Given the description of an element on the screen output the (x, y) to click on. 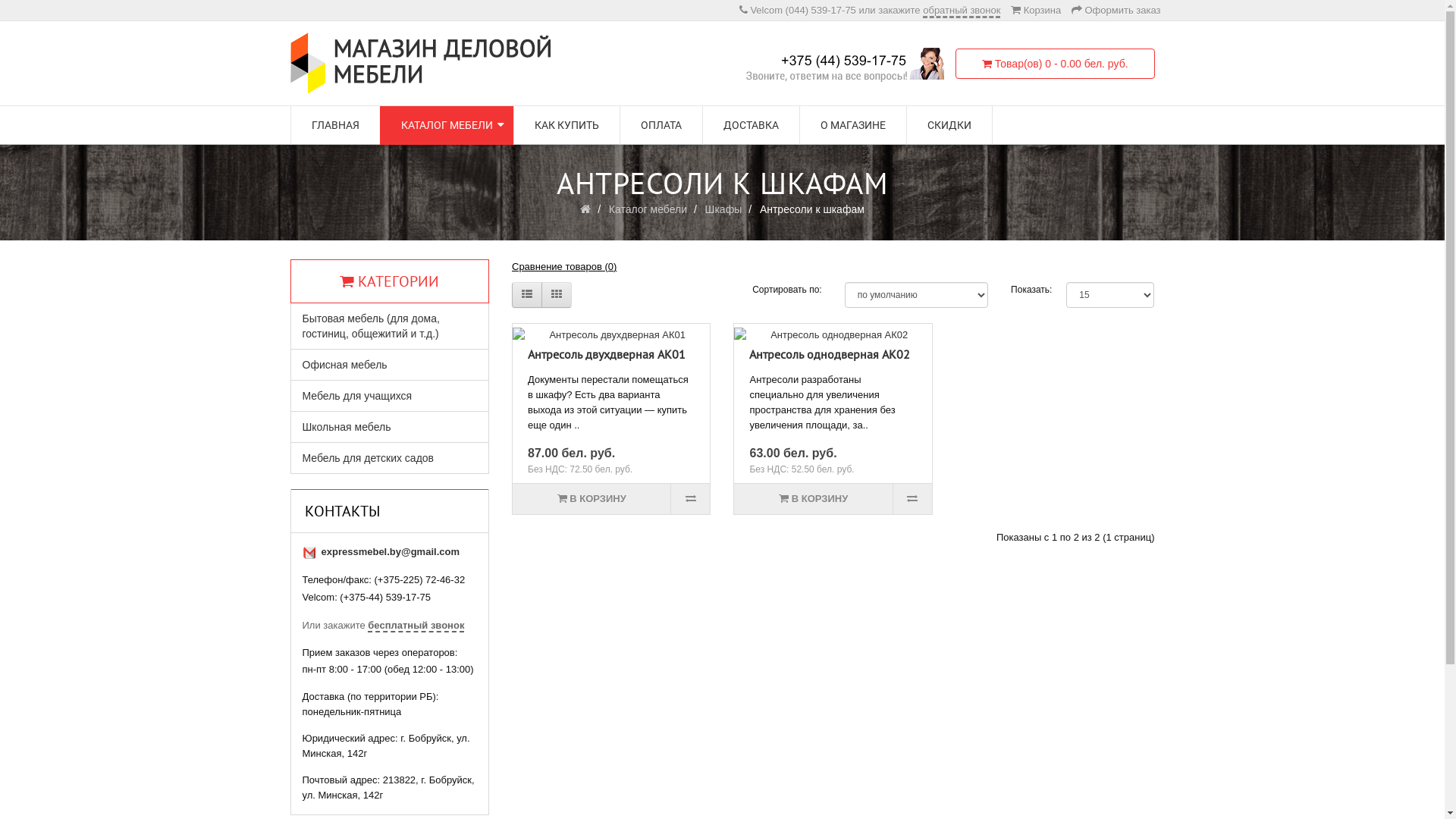
expressmebel.by@gmail.com Element type: text (390, 551)
